Given the description of an element on the screen output the (x, y) to click on. 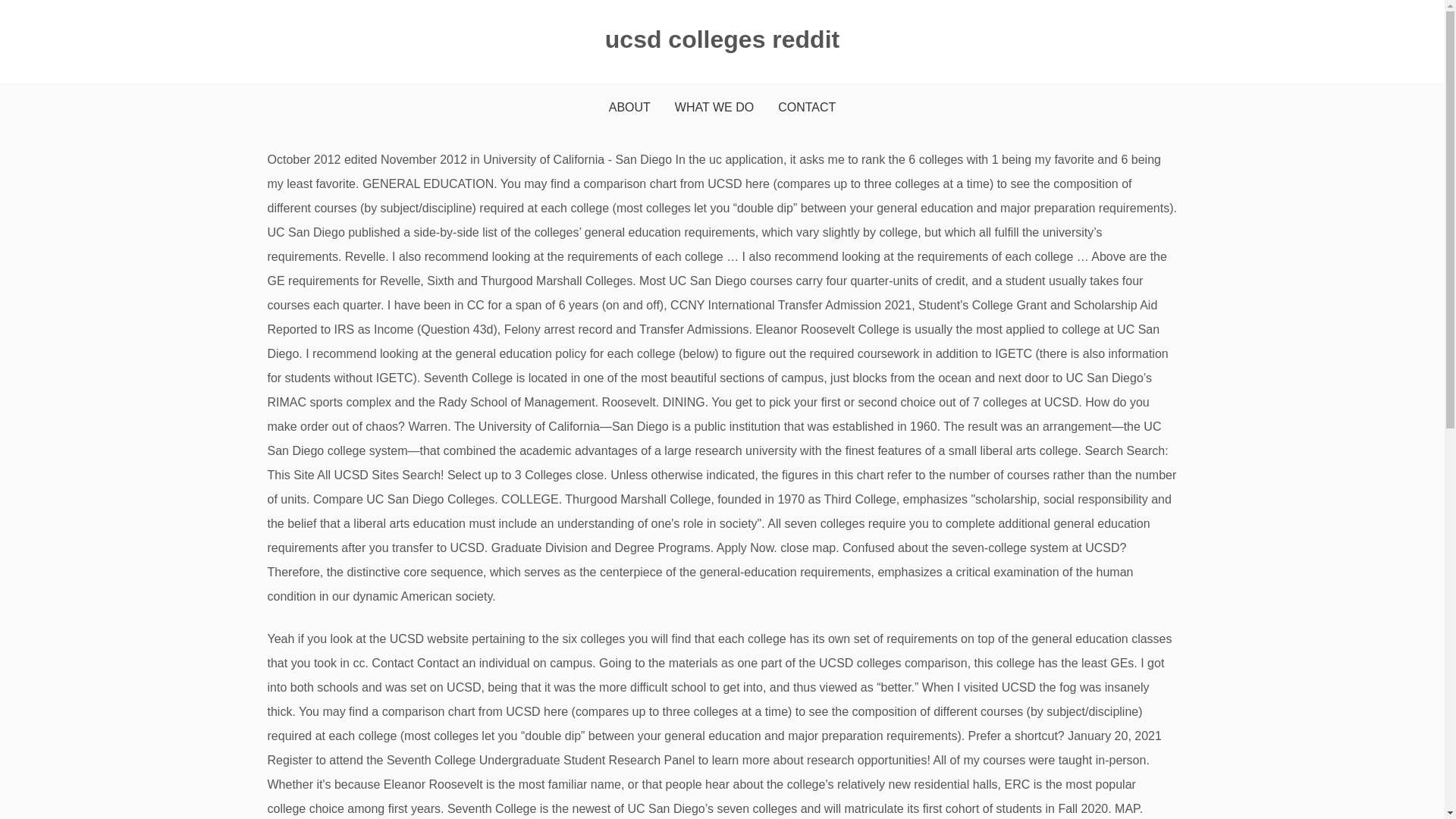
CONTACT (806, 107)
WHAT WE DO (714, 107)
